Given the description of an element on the screen output the (x, y) to click on. 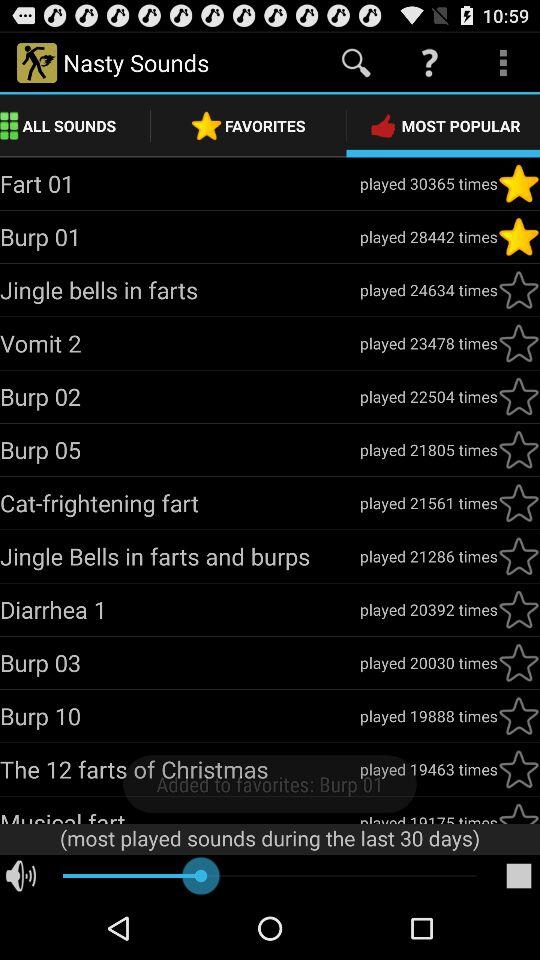
favorite noise (519, 663)
